Given the description of an element on the screen output the (x, y) to click on. 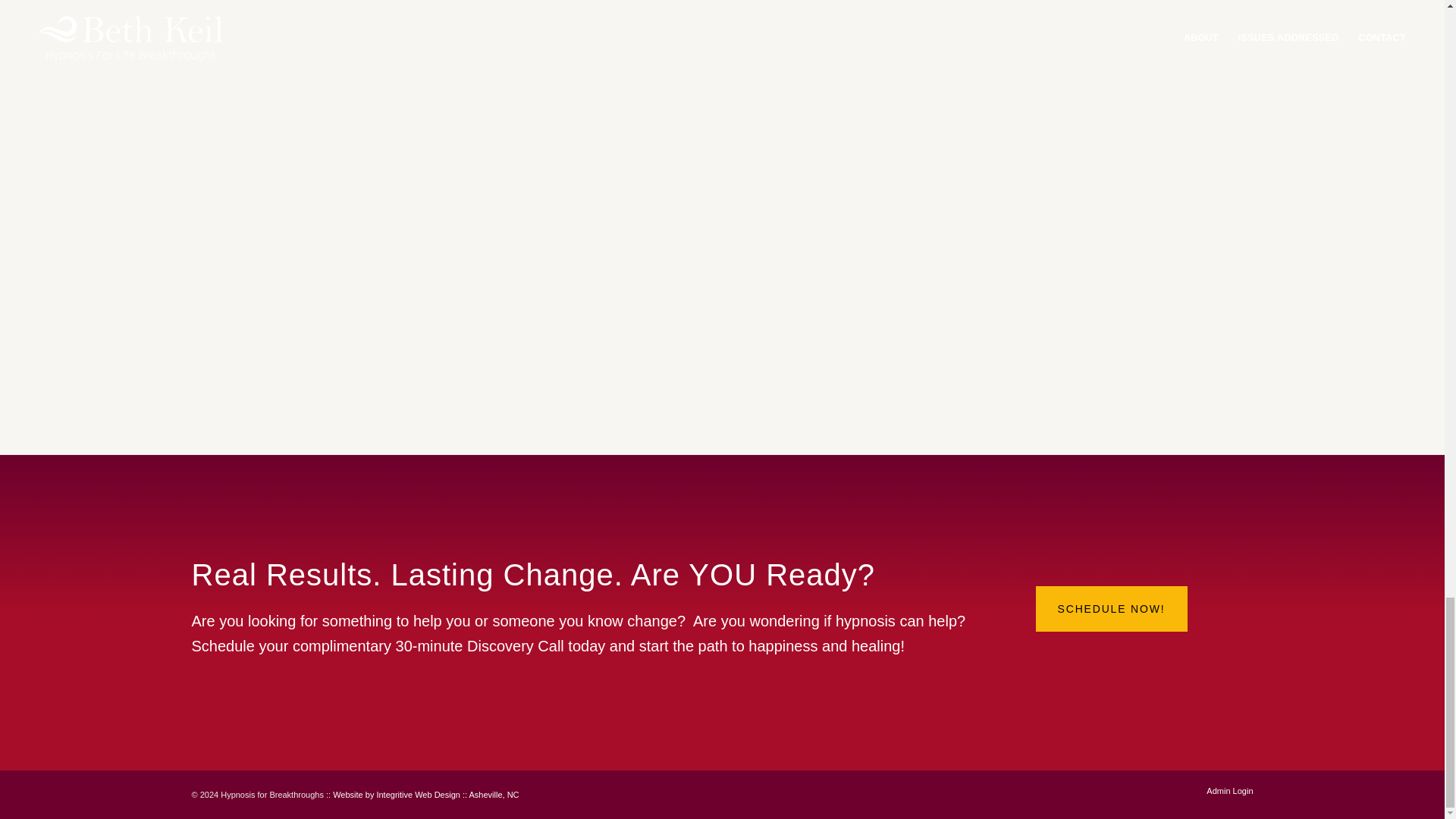
Admin Login (1229, 790)
Website by Integritive Web Design :: Asheville, NC (425, 794)
SCHEDULE NOW! (1111, 609)
